Given the description of an element on the screen output the (x, y) to click on. 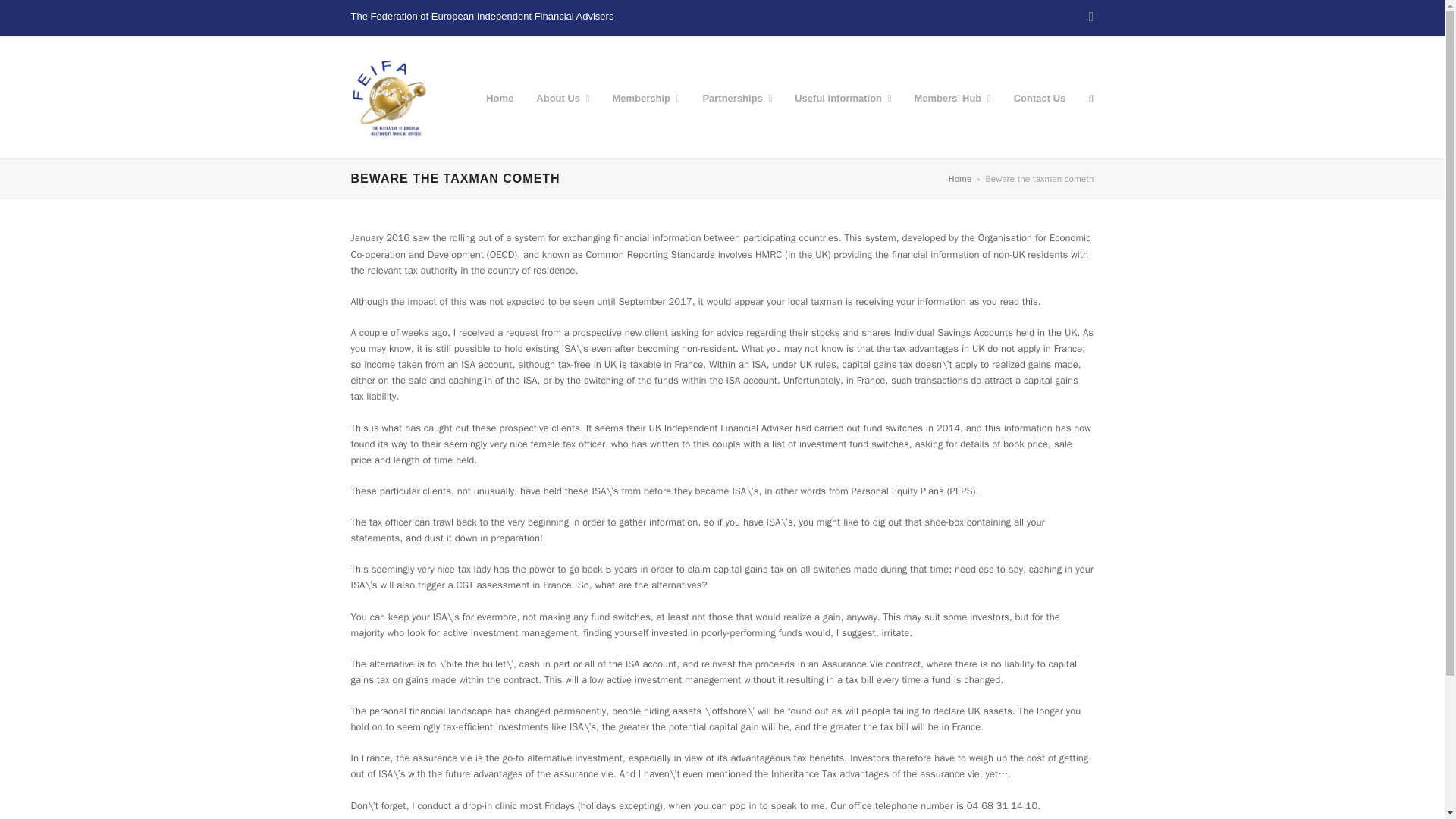
Useful Information (842, 97)
Home (960, 178)
